Given the description of an element on the screen output the (x, y) to click on. 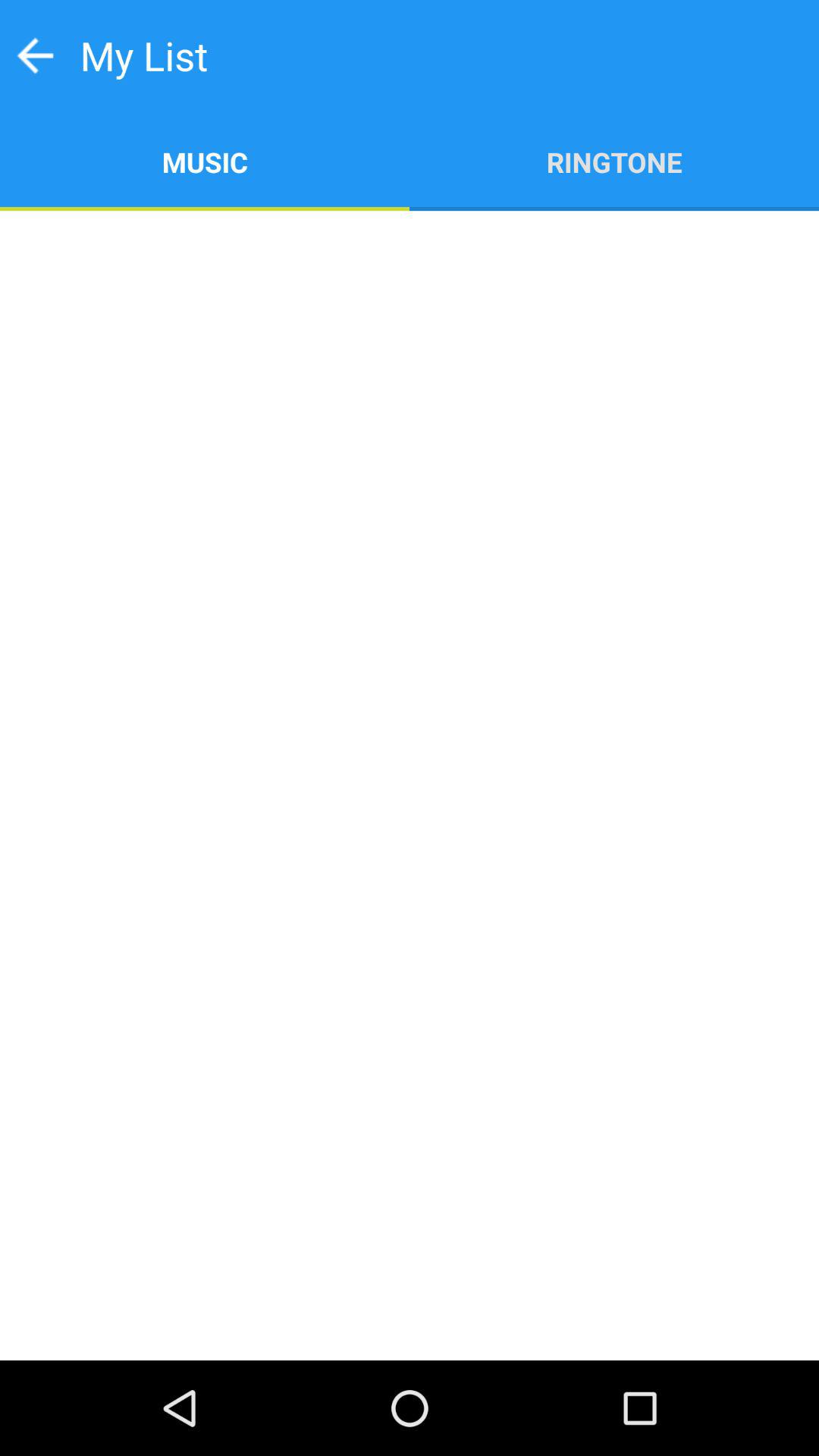
launch app next to the my list (35, 55)
